Given the description of an element on the screen output the (x, y) to click on. 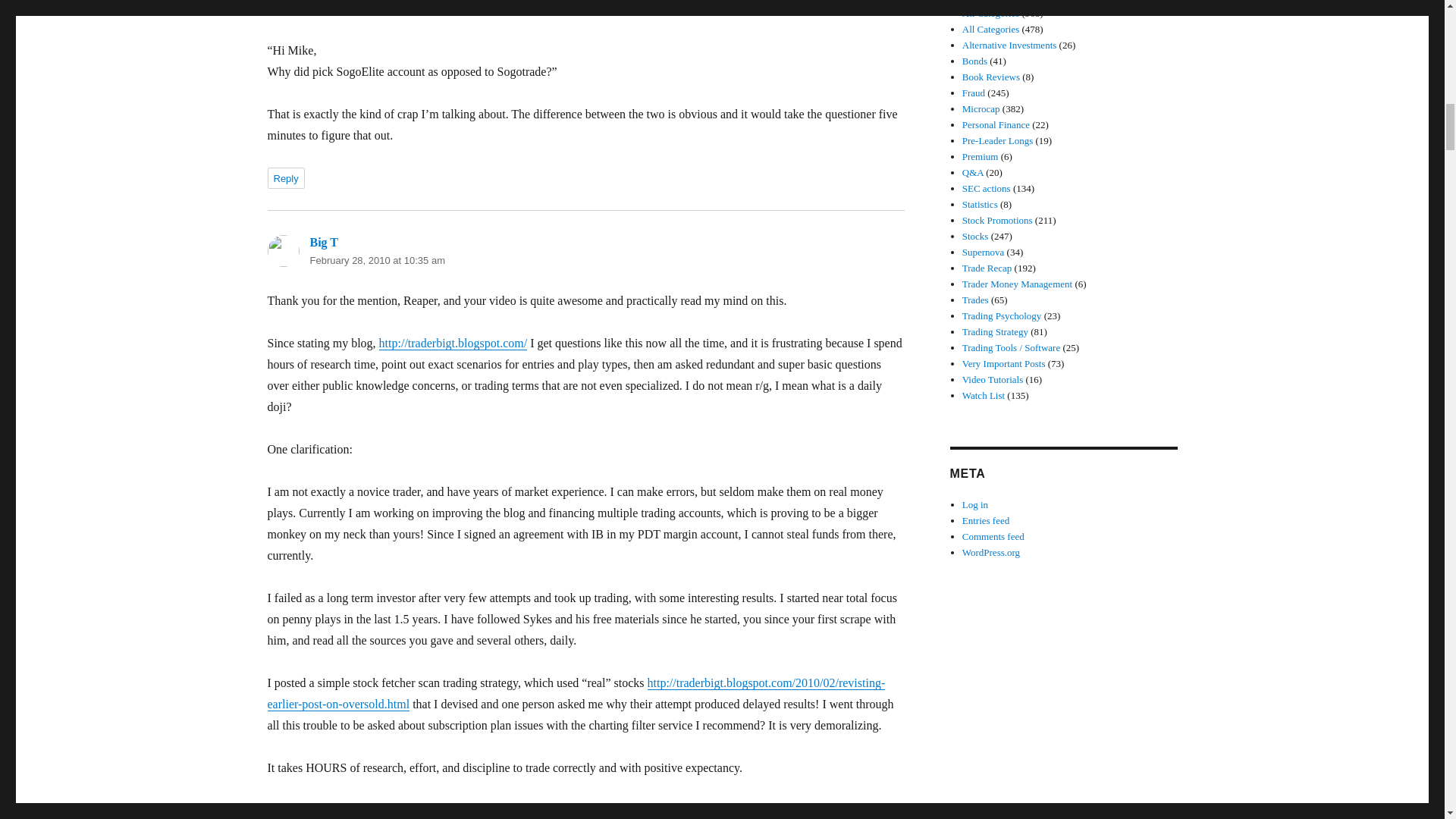
Reply (285, 178)
February 28, 2010 at 10:35 am (376, 260)
Big T (322, 241)
